Given the description of an element on the screen output the (x, y) to click on. 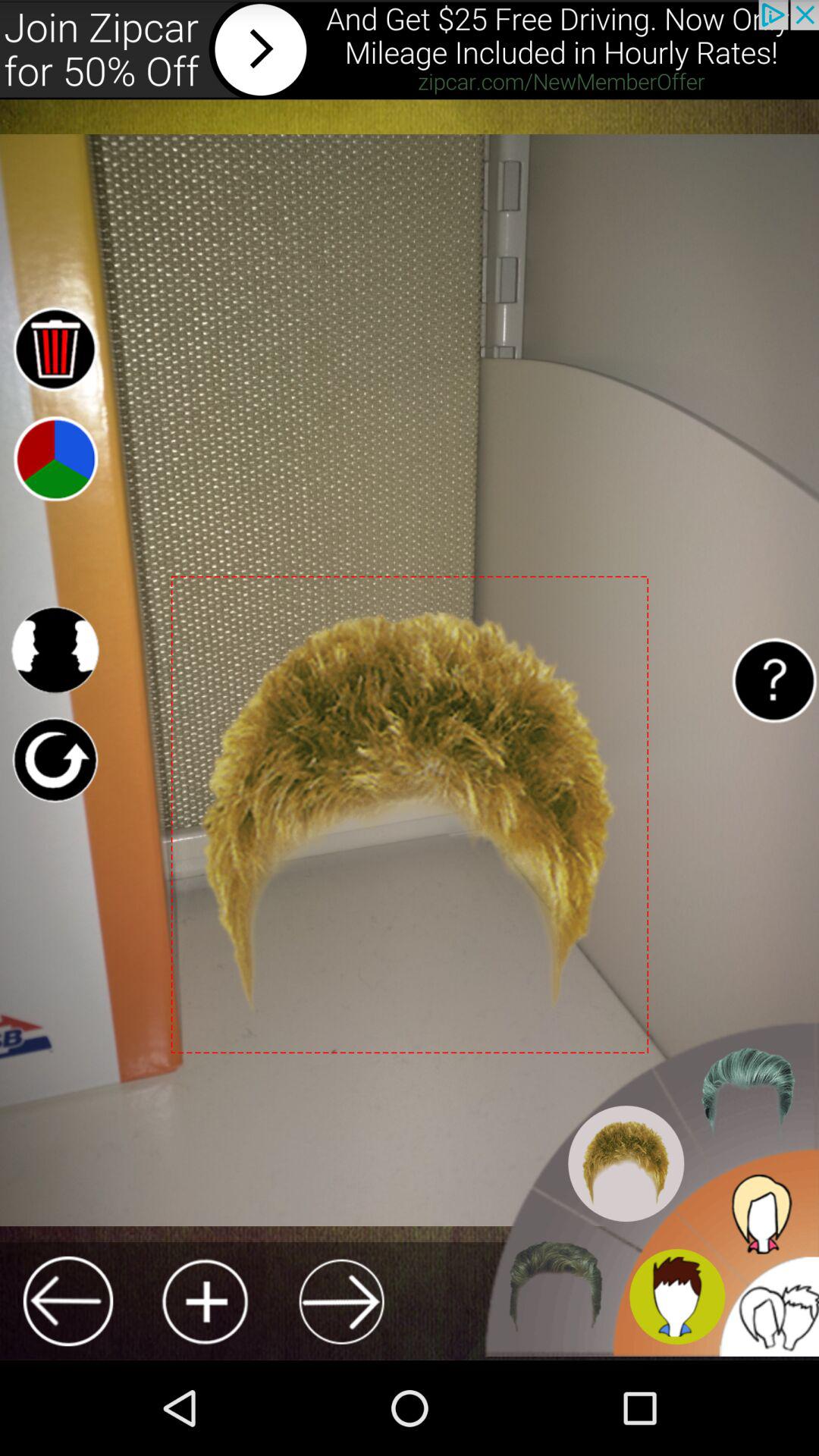
go next (341, 1301)
